Given the description of an element on the screen output the (x, y) to click on. 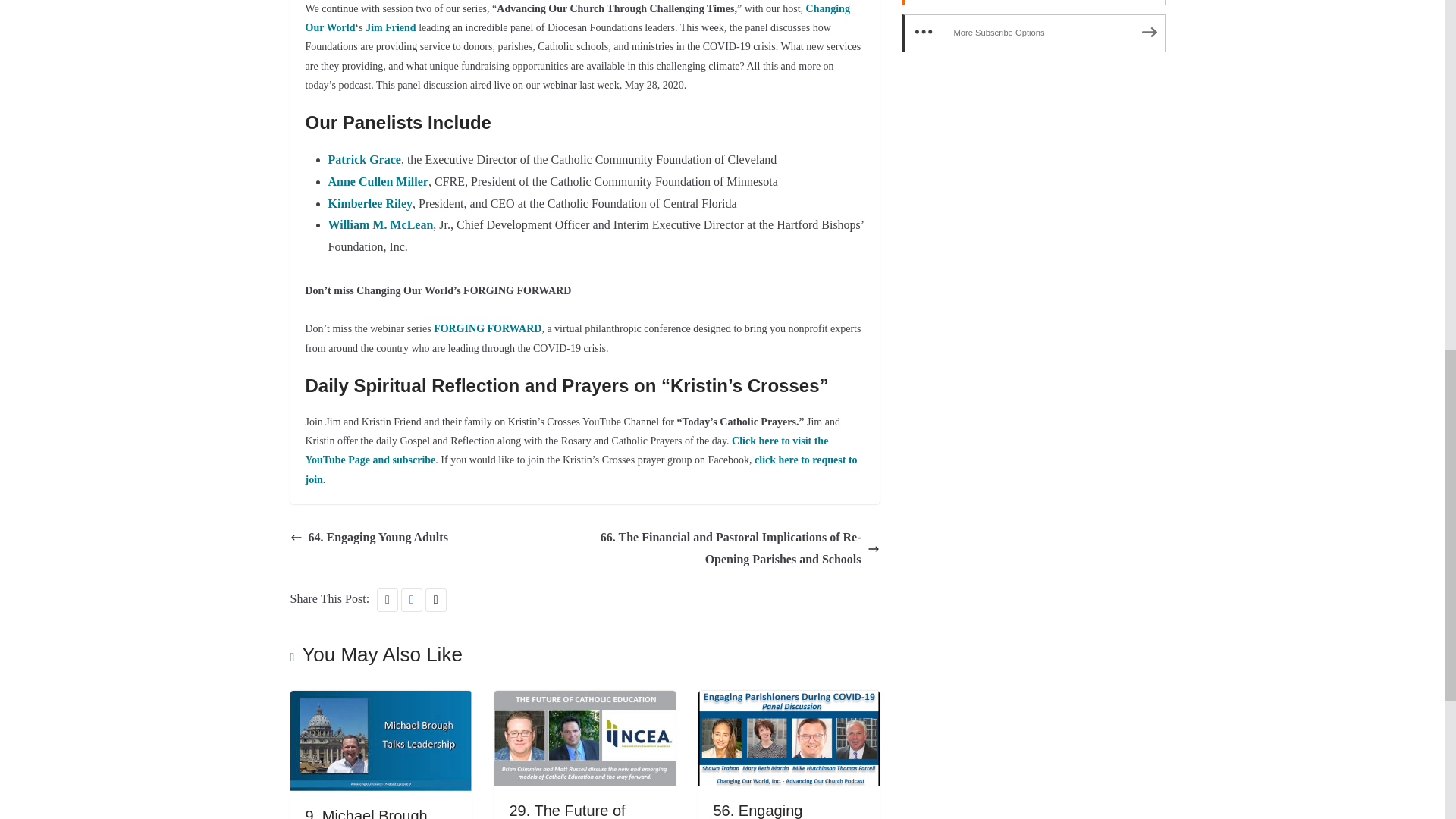
Jim Friend (390, 27)
Click here to visit the YouTube Page and subscribe (566, 450)
9. Michael Brough Talks Leadership (379, 700)
FORGING FORWARD (487, 328)
56. Engaging Parishioners During COVID-19 (788, 700)
William M. McLean (379, 224)
Anne Cullen Miller (377, 181)
Subscribe via RSS (1034, 2)
29. The Future of Catholic Education (585, 700)
click here to request to join (580, 469)
Kimberlee Riley (369, 203)
29. The Future of Catholic Education (572, 810)
Changing Our World (576, 18)
9. Michael Brough Talks Leadership (365, 813)
More Subscribe Options (1034, 33)
